Given the description of an element on the screen output the (x, y) to click on. 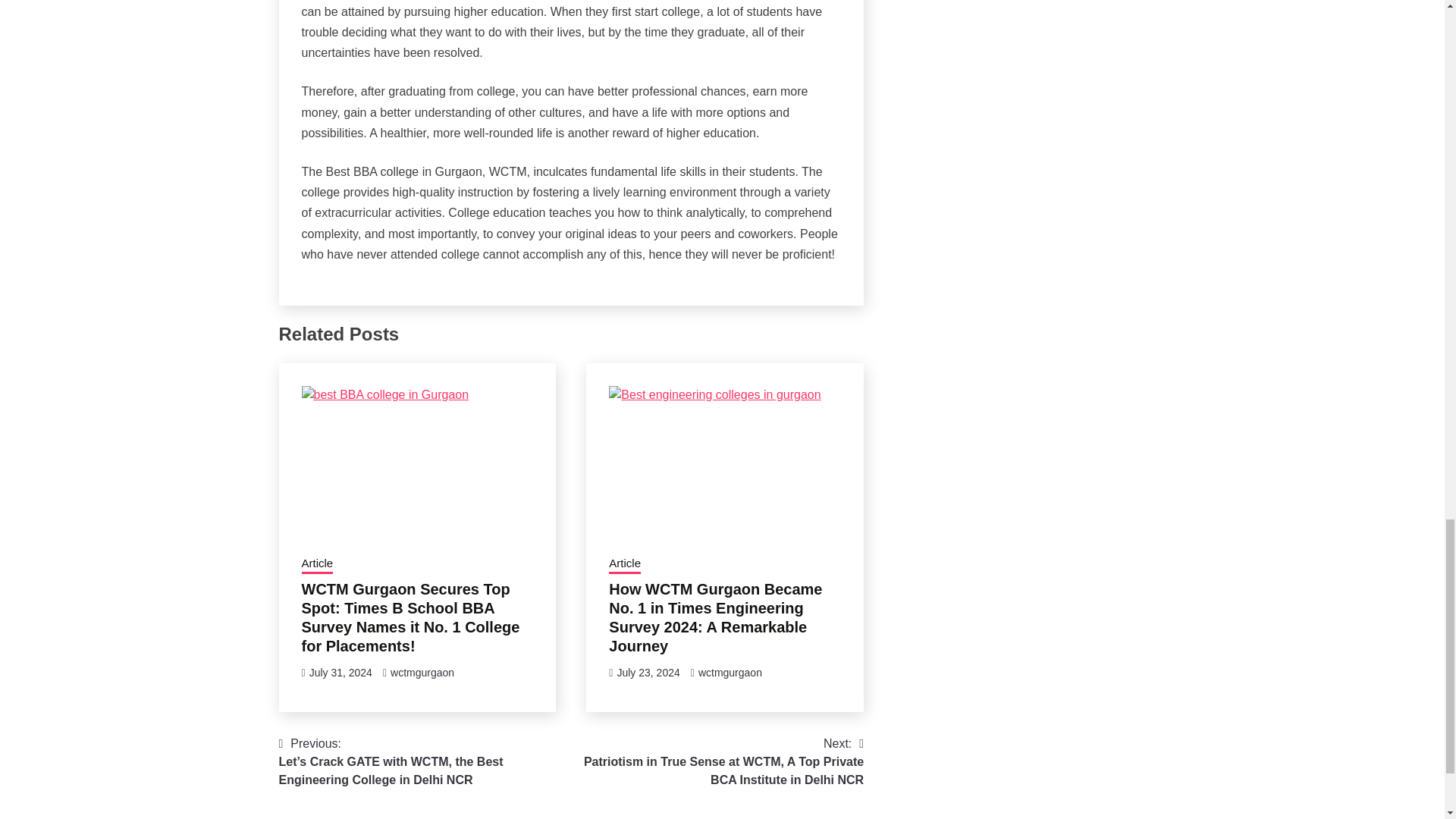
Article (624, 564)
July 23, 2024 (647, 672)
Article (317, 564)
wctmgurgaon (422, 672)
wctmgurgaon (729, 672)
July 31, 2024 (340, 672)
